Given the description of an element on the screen output the (x, y) to click on. 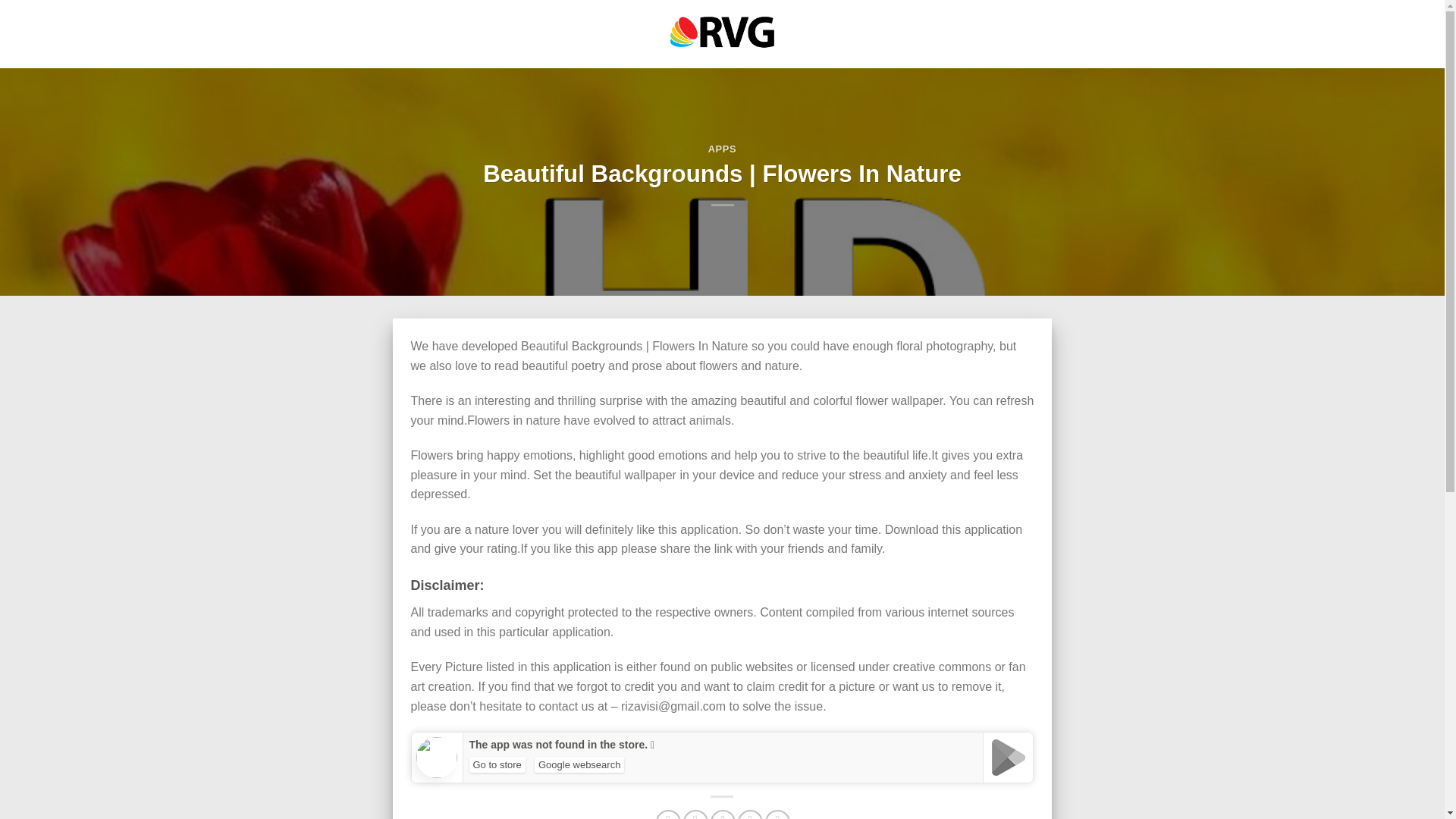
RVG - Riza Visi Global (721, 33)
Share on Facebook (668, 814)
Pin on Pinterest (750, 814)
Go to store (496, 764)
Share on LinkedIn (777, 814)
Email to a Friend (722, 814)
APPS (721, 148)
Google websearch (579, 764)
Share on Twitter (694, 814)
